Given the description of an element on the screen output the (x, y) to click on. 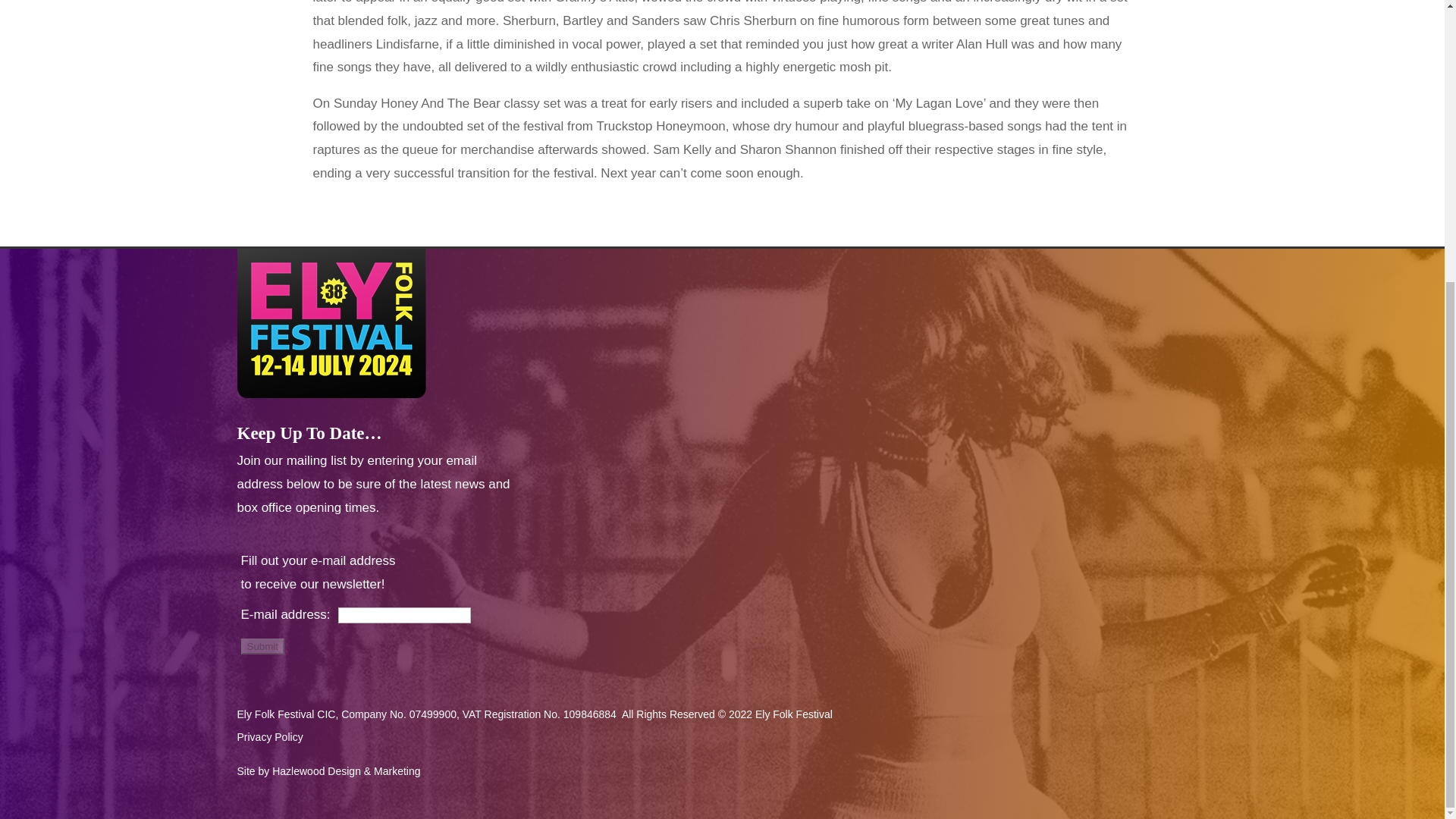
eyfflogo-2024-header-logo (330, 323)
Submit (262, 646)
